Given the description of an element on the screen output the (x, y) to click on. 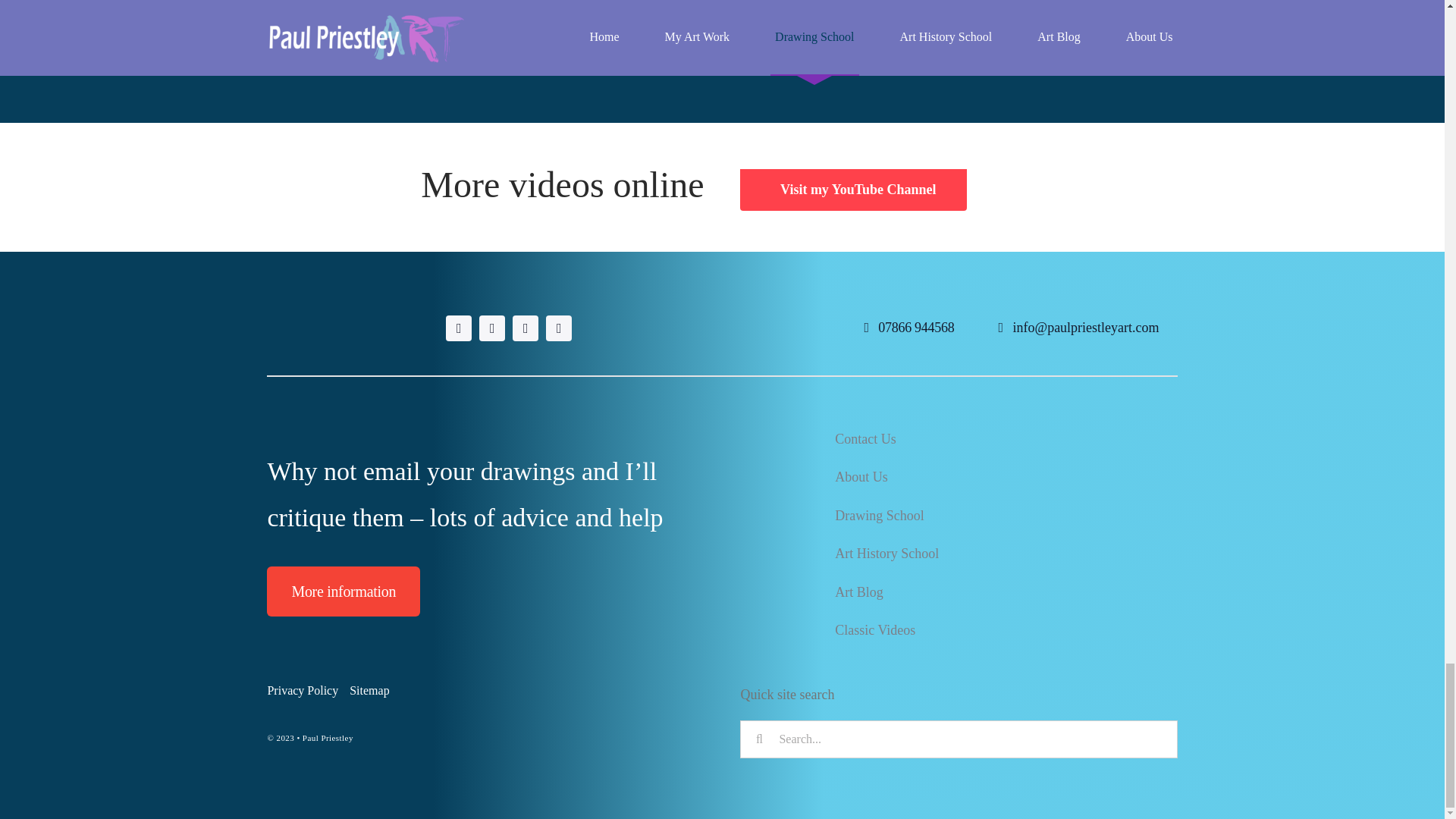
Paul Priestley Art logo (342, 327)
